Given the description of an element on the screen output the (x, y) to click on. 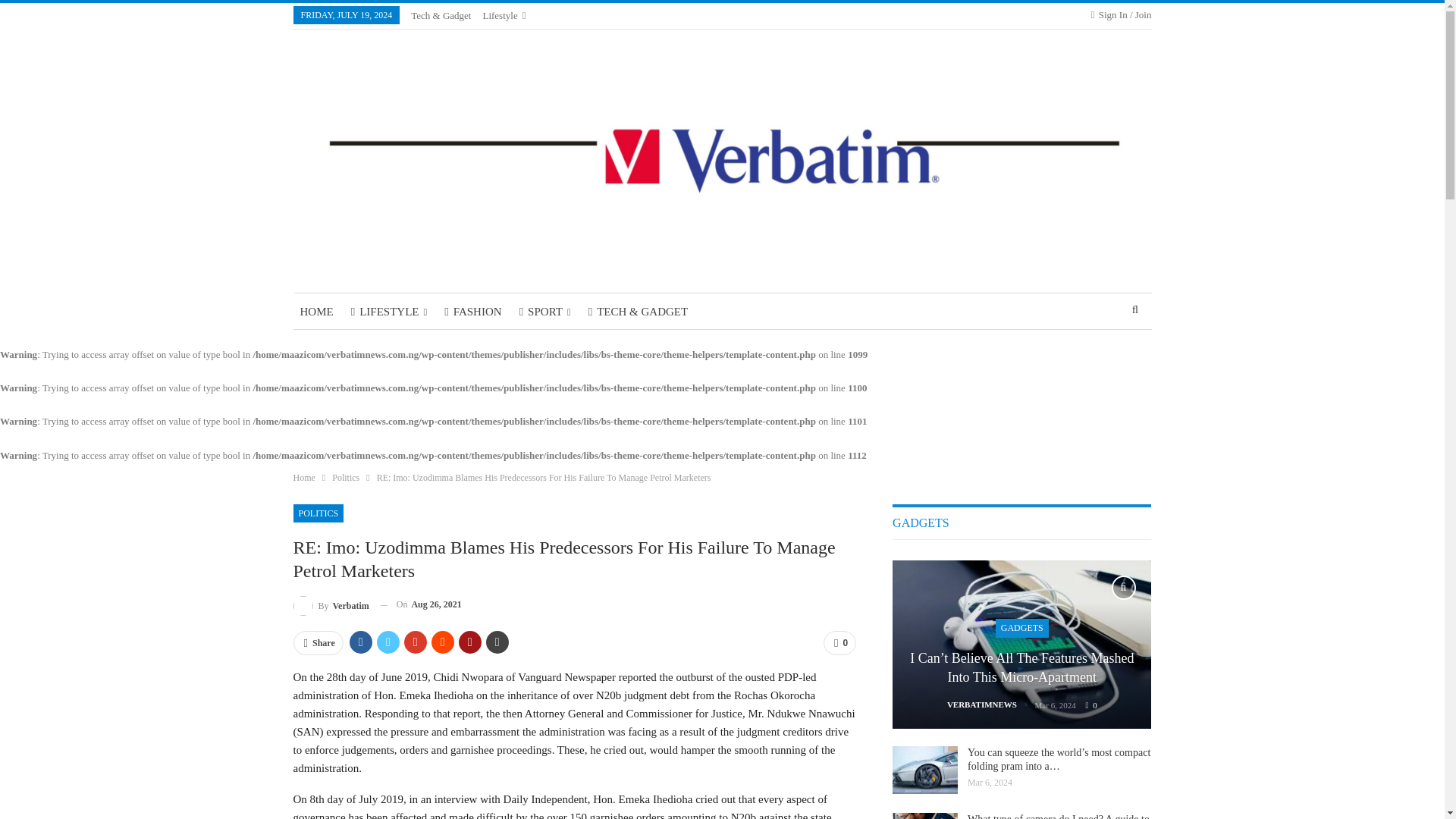
Browse Author Articles (330, 604)
LIFESTYLE (388, 311)
Lifestyle (503, 15)
HOME (315, 311)
SPORT (545, 311)
FASHION (473, 311)
